Given the description of an element on the screen output the (x, y) to click on. 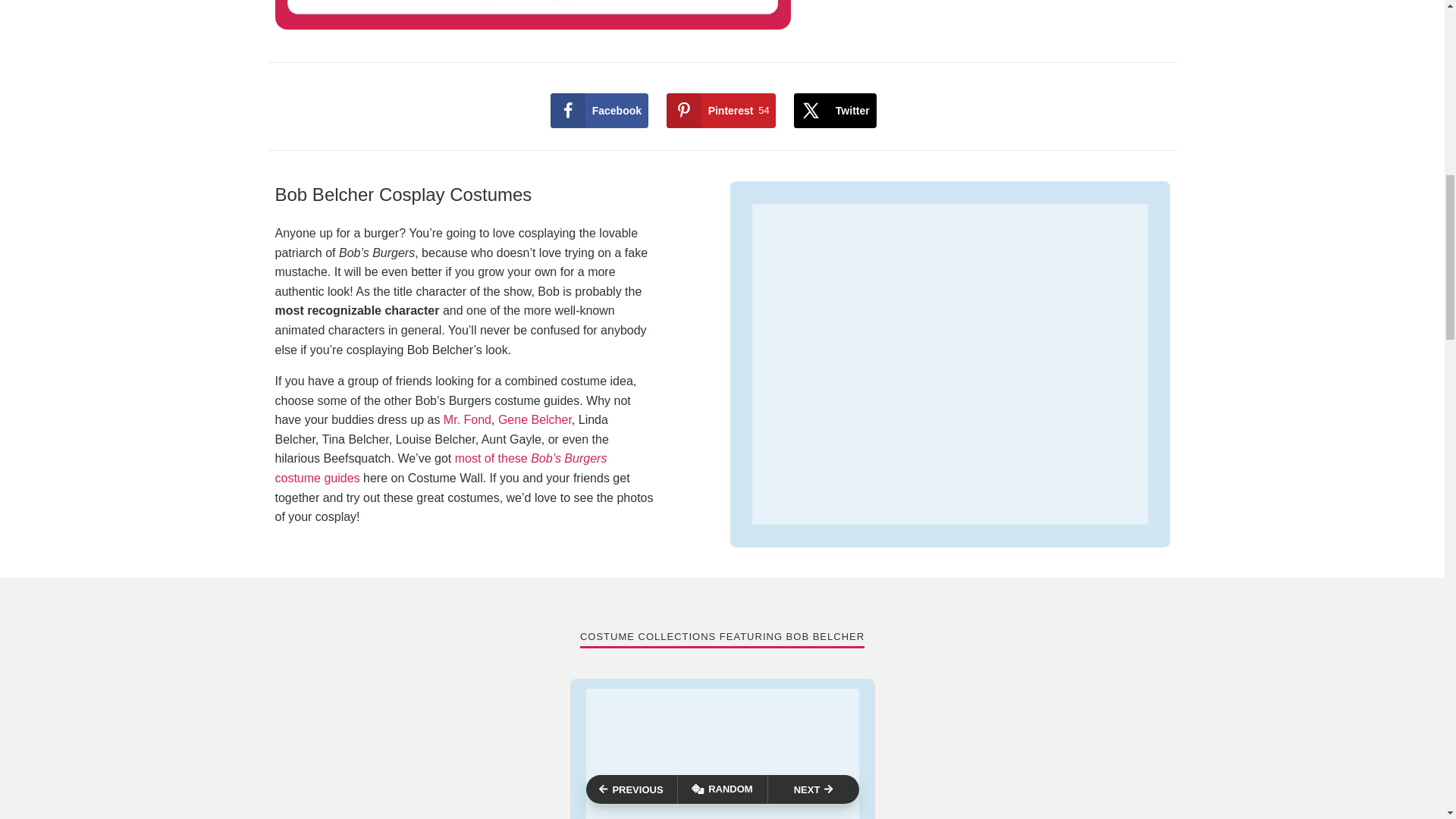
Share on Facebook (721, 110)
Mr. Fond (598, 110)
Facebook (468, 419)
Twitter (598, 110)
Share on X (834, 110)
Best Costumes for Men with Mustaches in 2024 (834, 110)
Gene Belcher (721, 748)
Save to Pinterest (534, 419)
Costume Inspiration Gallery (721, 110)
